Given the description of an element on the screen output the (x, y) to click on. 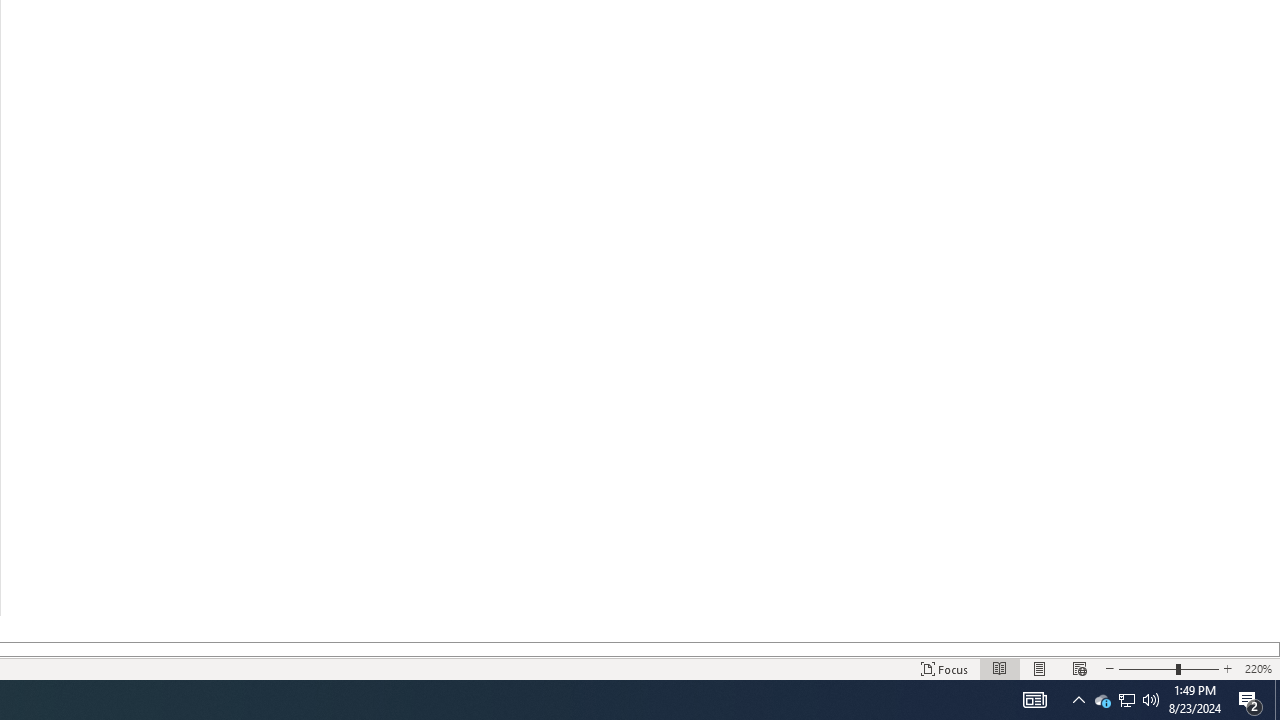
Text Size (1168, 668)
Decrease Text Size (1109, 668)
Increase Text Size (1227, 668)
